Given the description of an element on the screen output the (x, y) to click on. 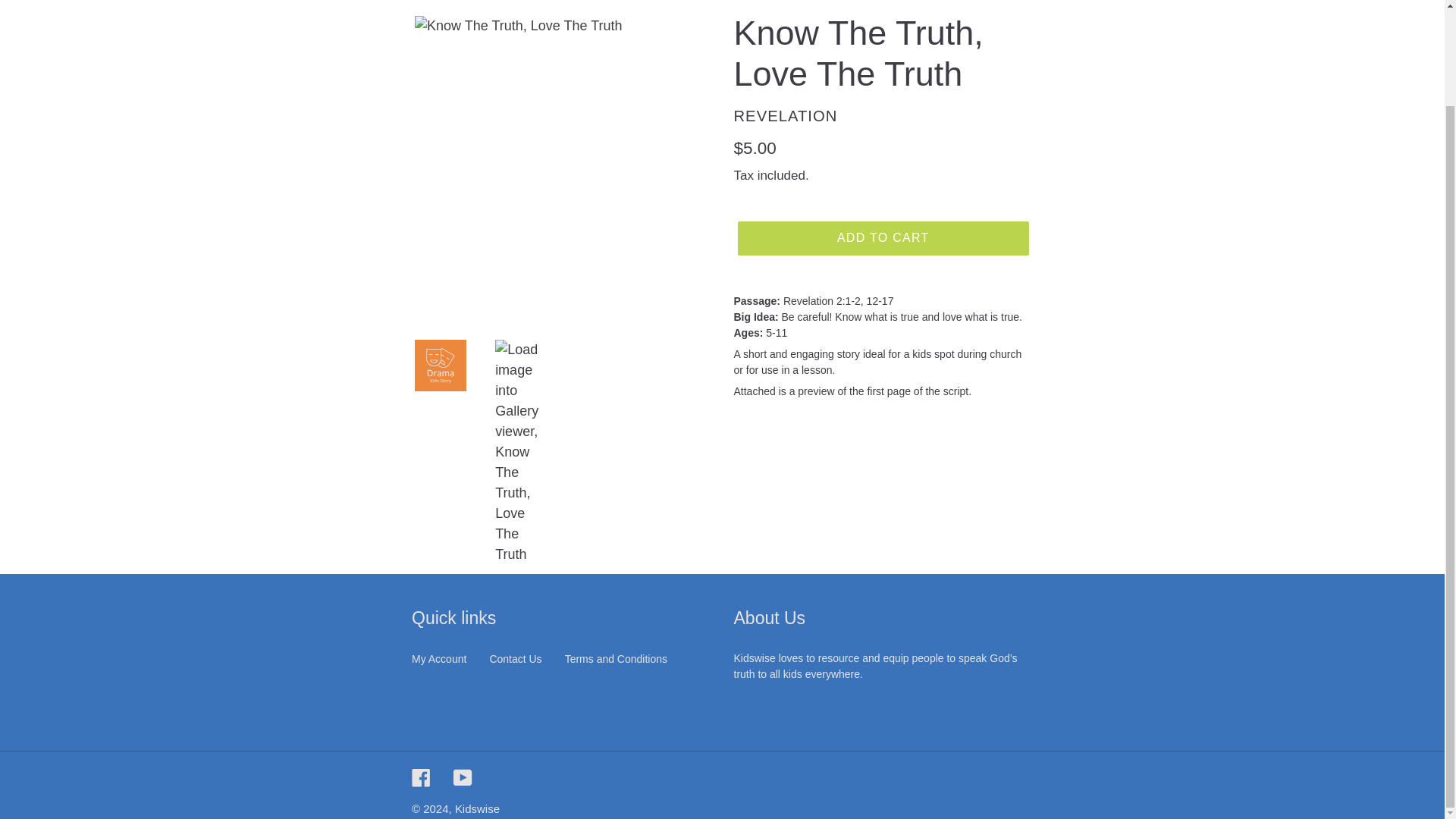
Terms and Conditions (615, 658)
ADD TO CART (882, 237)
My Account (438, 658)
Page 1 (883, 335)
Page 1 (883, 346)
YouTube (461, 776)
Kidswise (476, 808)
Contact Us (515, 658)
Facebook (421, 776)
